Given the description of an element on the screen output the (x, y) to click on. 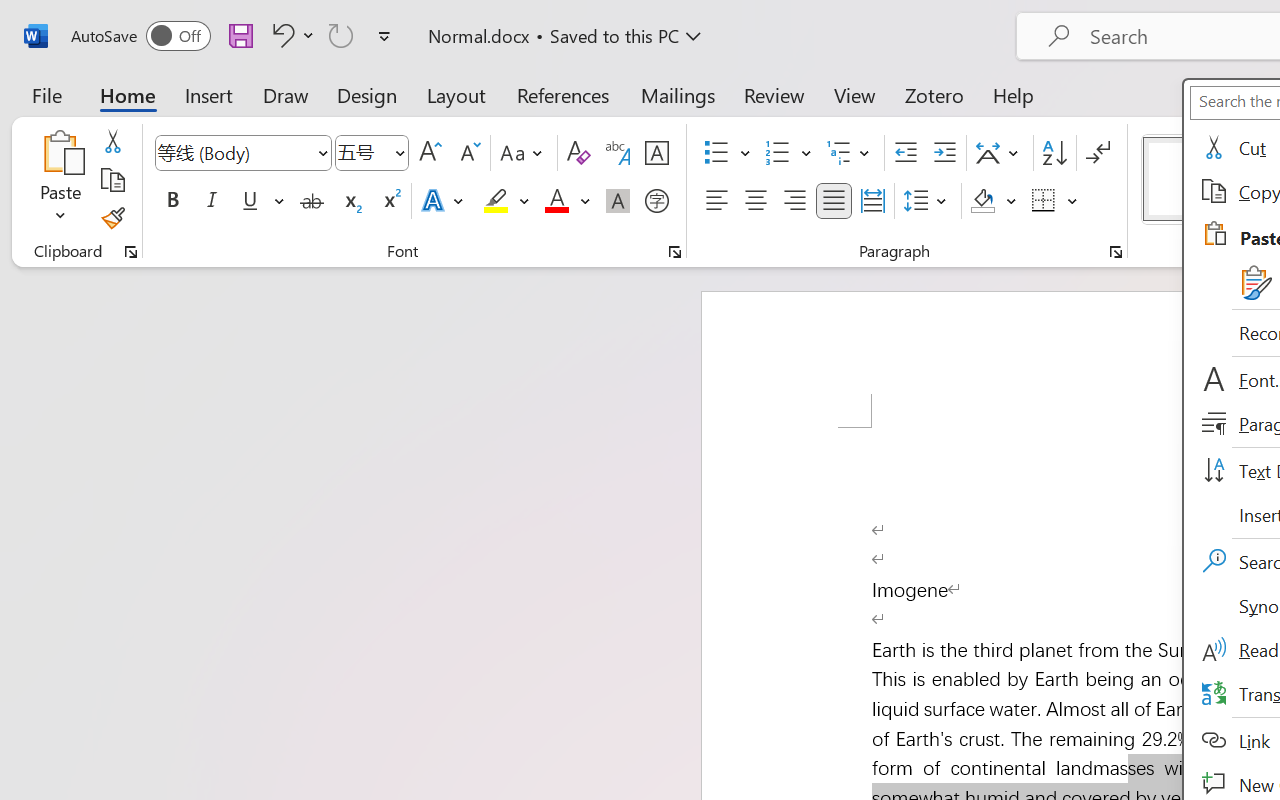
Character Border (656, 153)
Center (756, 201)
